Given the description of an element on the screen output the (x, y) to click on. 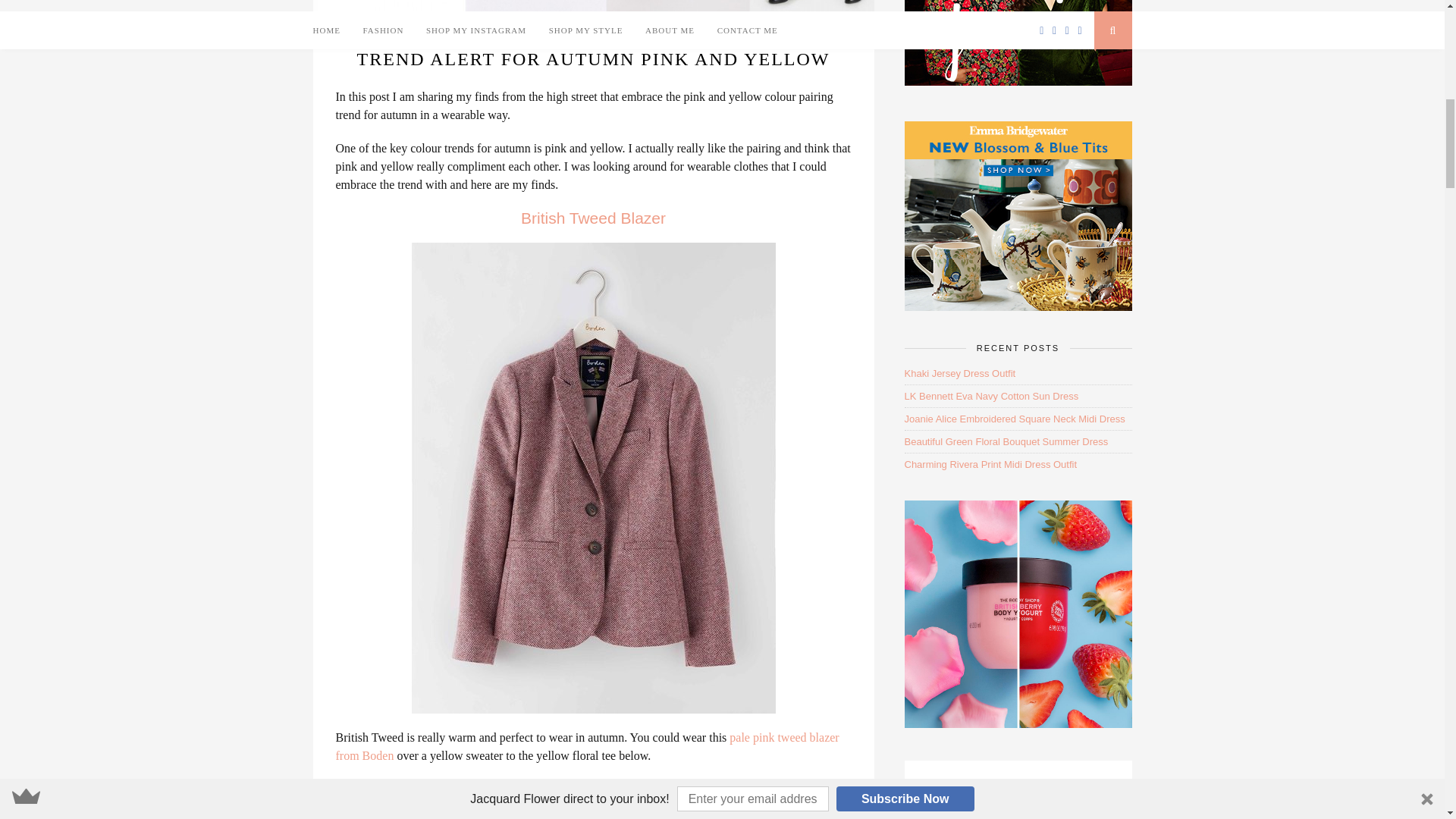
WISHLIST (617, 38)
FASHION (568, 38)
British Tweed Blazer (593, 217)
Joules Harbour Yellow Floral (593, 788)
pale pink tweed blazer from Boden (586, 746)
